Given the description of an element on the screen output the (x, y) to click on. 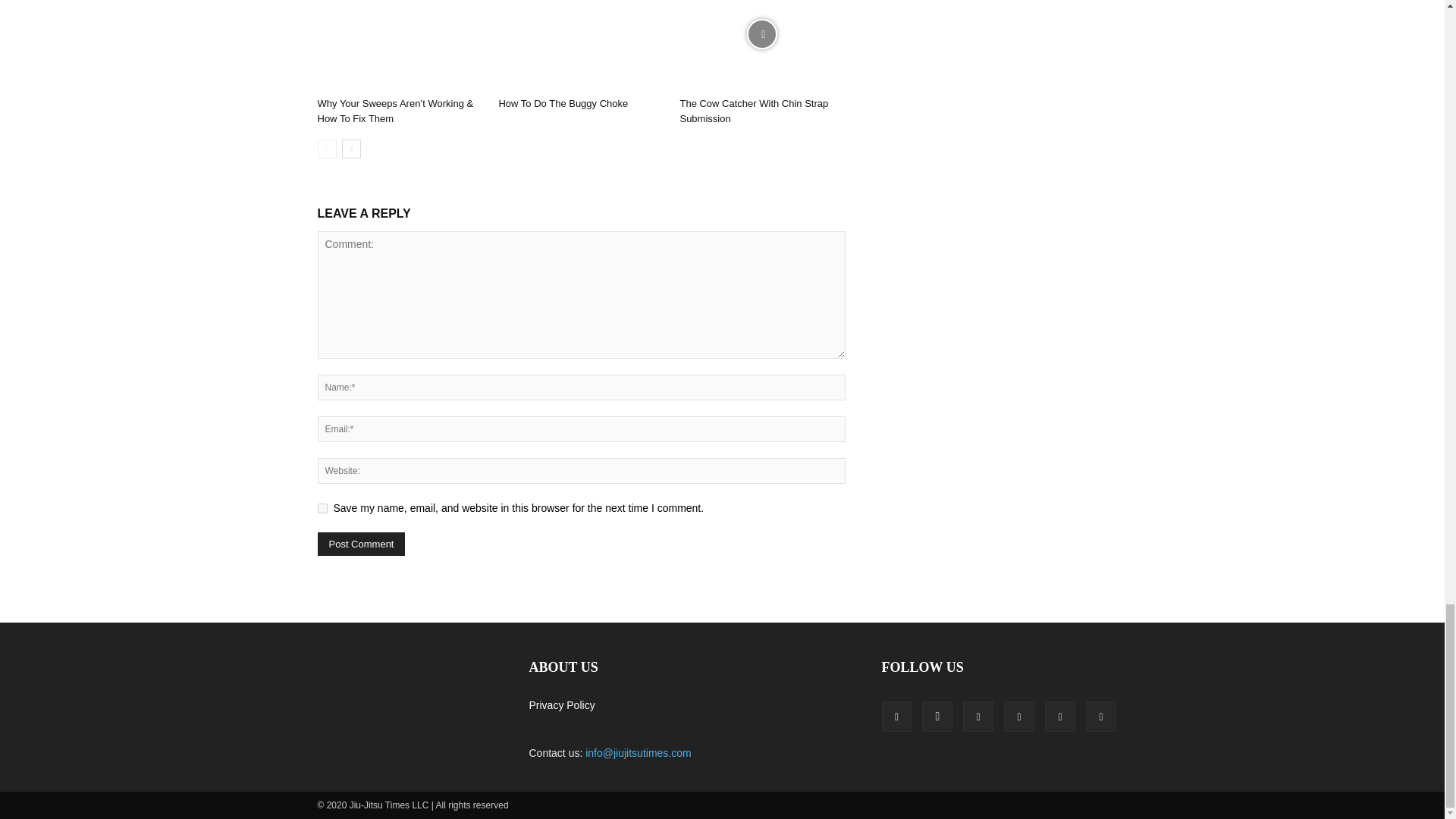
yes (321, 508)
Post Comment (360, 544)
